Given the description of an element on the screen output the (x, y) to click on. 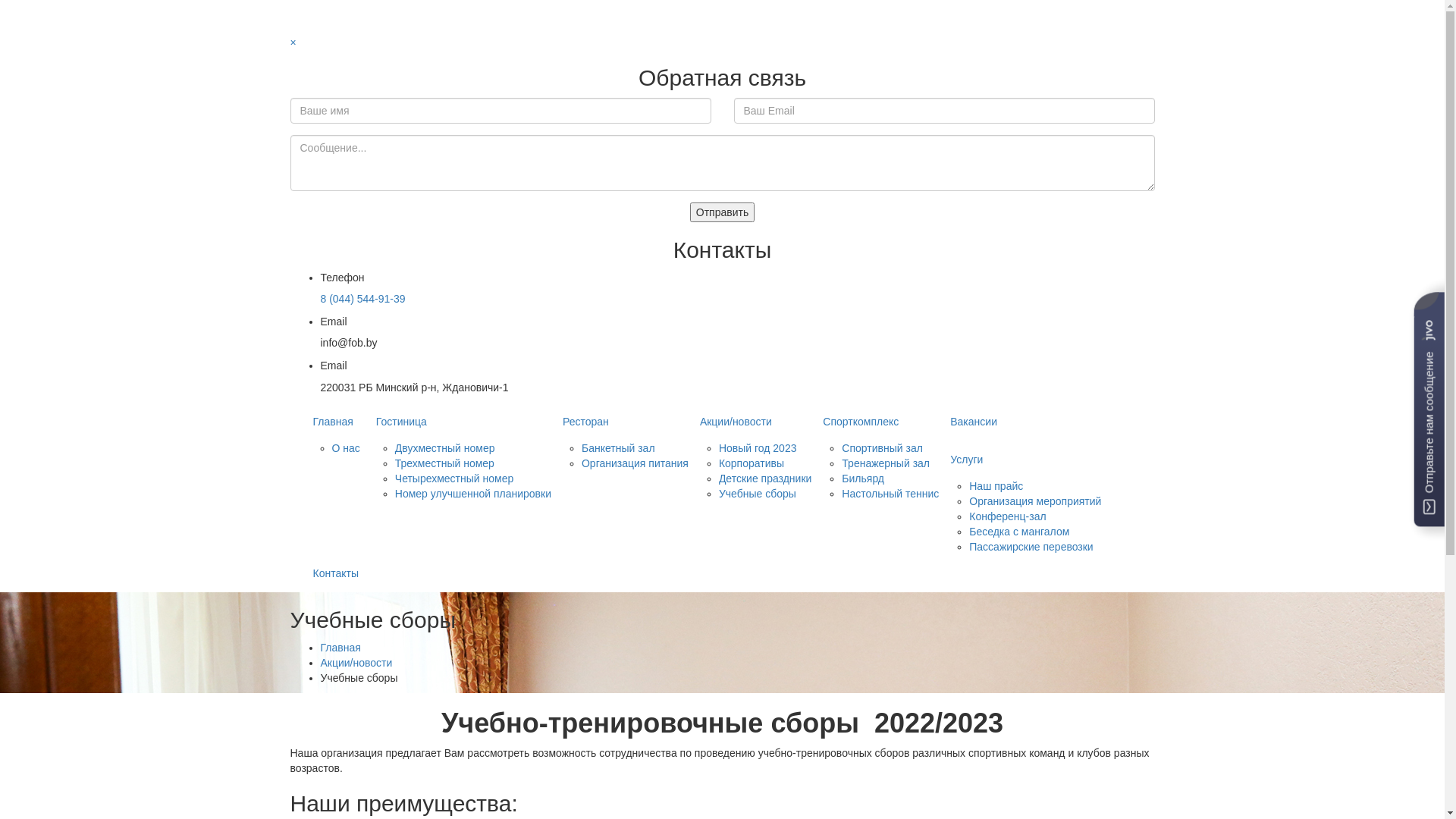
8 (044) 544-91-39 Element type: text (362, 298)
+375 (29) 118-58-00 Element type: text (344, 7)
+375 (44) 501-65-23 Element type: text (344, 24)
